Given the description of an element on the screen output the (x, y) to click on. 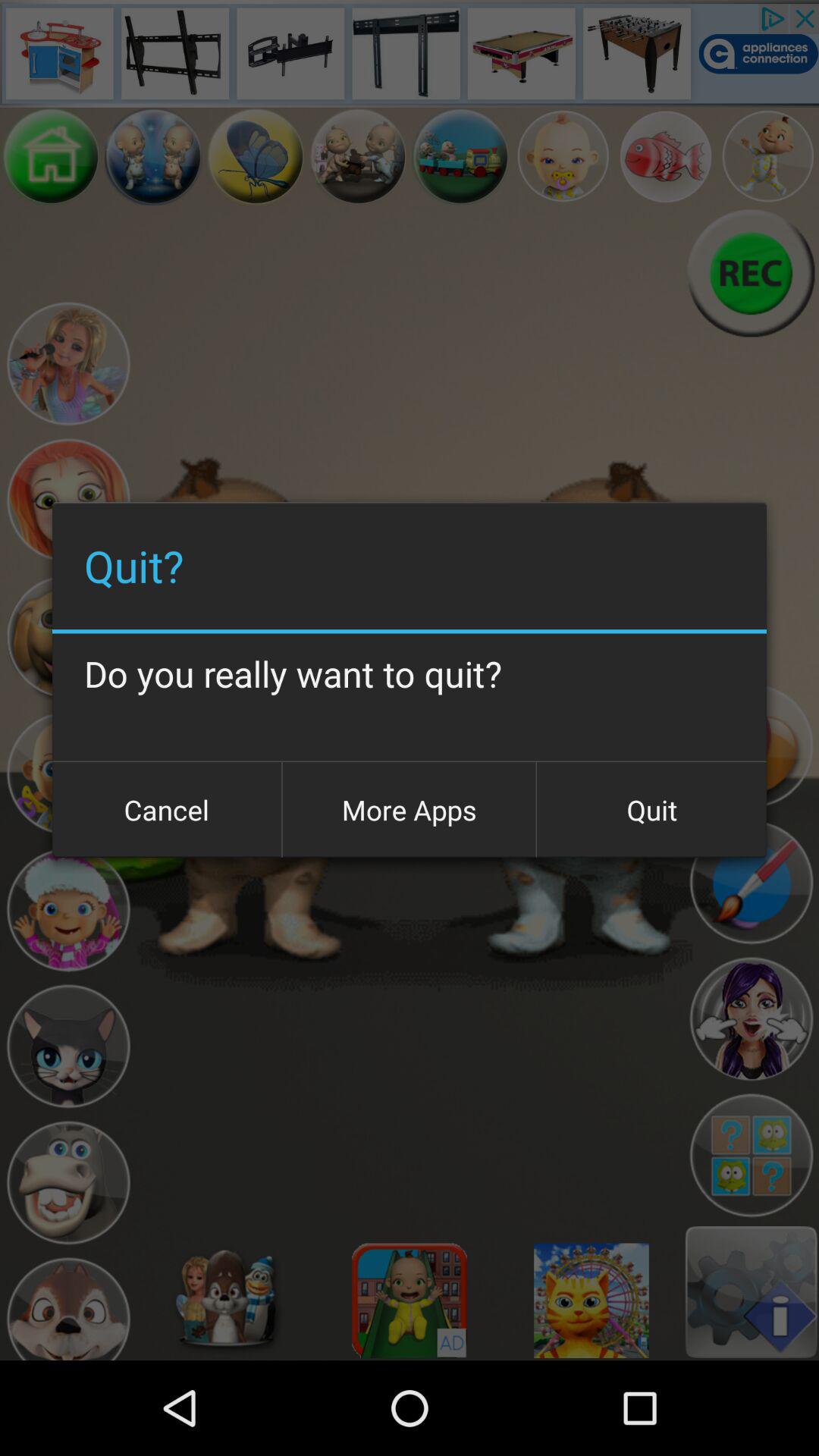
select face (68, 1305)
